Given the description of an element on the screen output the (x, y) to click on. 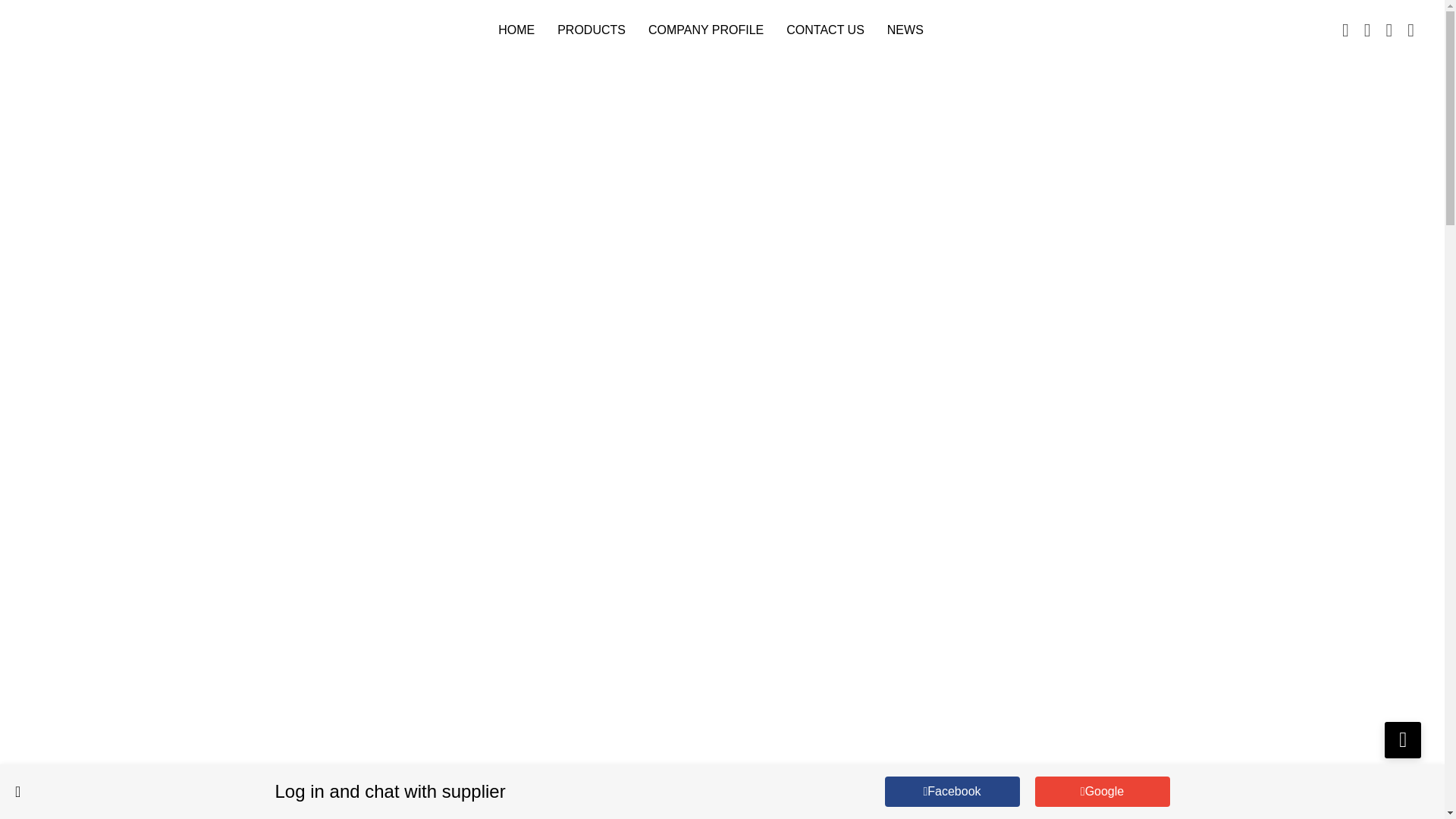
HOME (515, 29)
CONTACT US (1402, 739)
PRODUCTS (591, 29)
NEWS (904, 29)
CONTACT US (825, 29)
COMPANY PROFILE (704, 29)
